Given the description of an element on the screen output the (x, y) to click on. 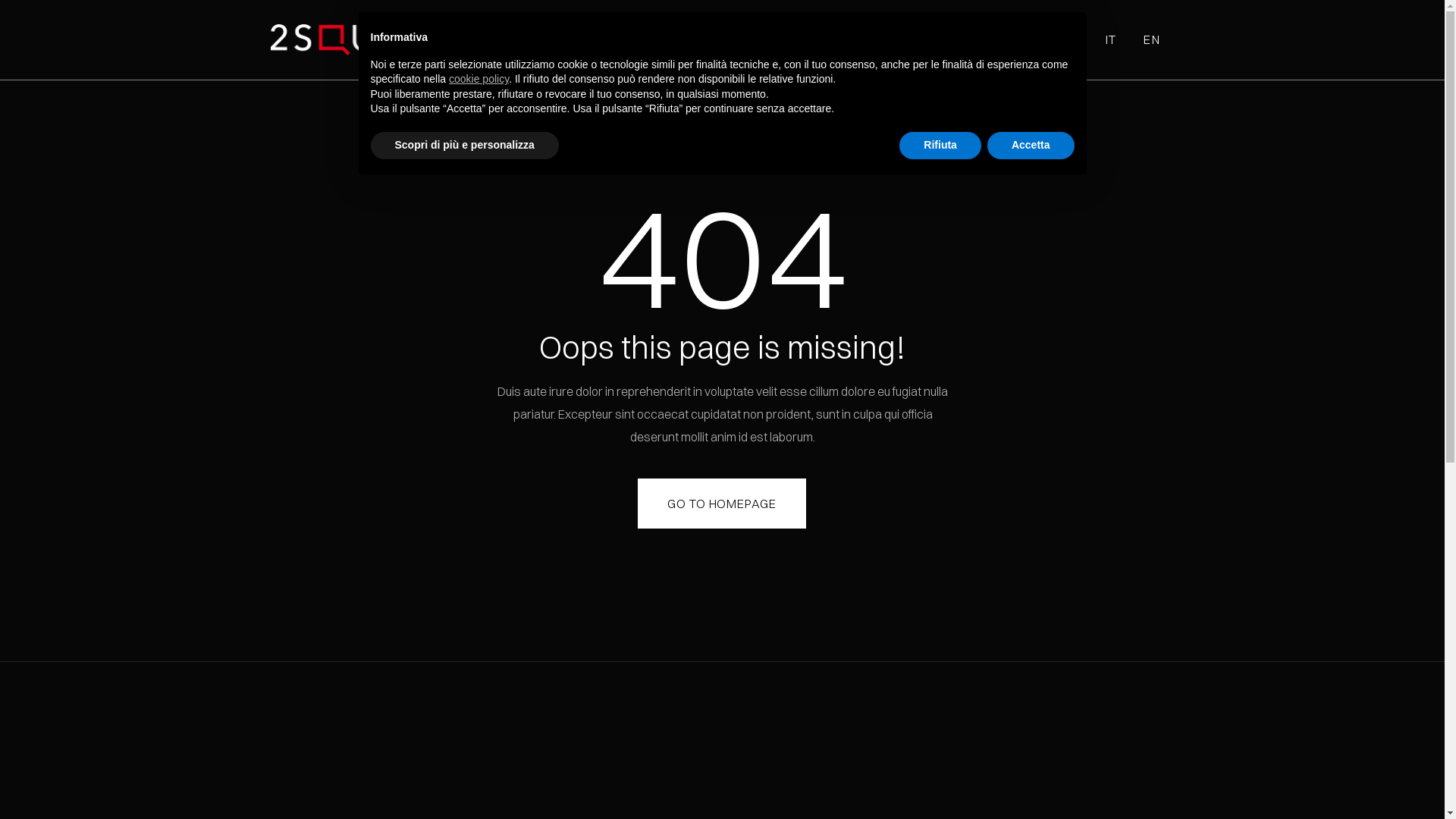
IL GRUPPO Element type: text (792, 39)
SERVIZI Element type: text (876, 39)
cookie policy Element type: text (478, 78)
IT Element type: text (1111, 39)
Accetta Element type: text (1030, 145)
GO TO HOMEPAGE Element type: text (721, 503)
EN Element type: text (1151, 39)
CHI SIAMO Element type: text (699, 39)
CONTATTI Element type: text (1048, 39)
PROGETTI Element type: text (958, 39)
Rifiuta Element type: text (940, 145)
